Given the description of an element on the screen output the (x, y) to click on. 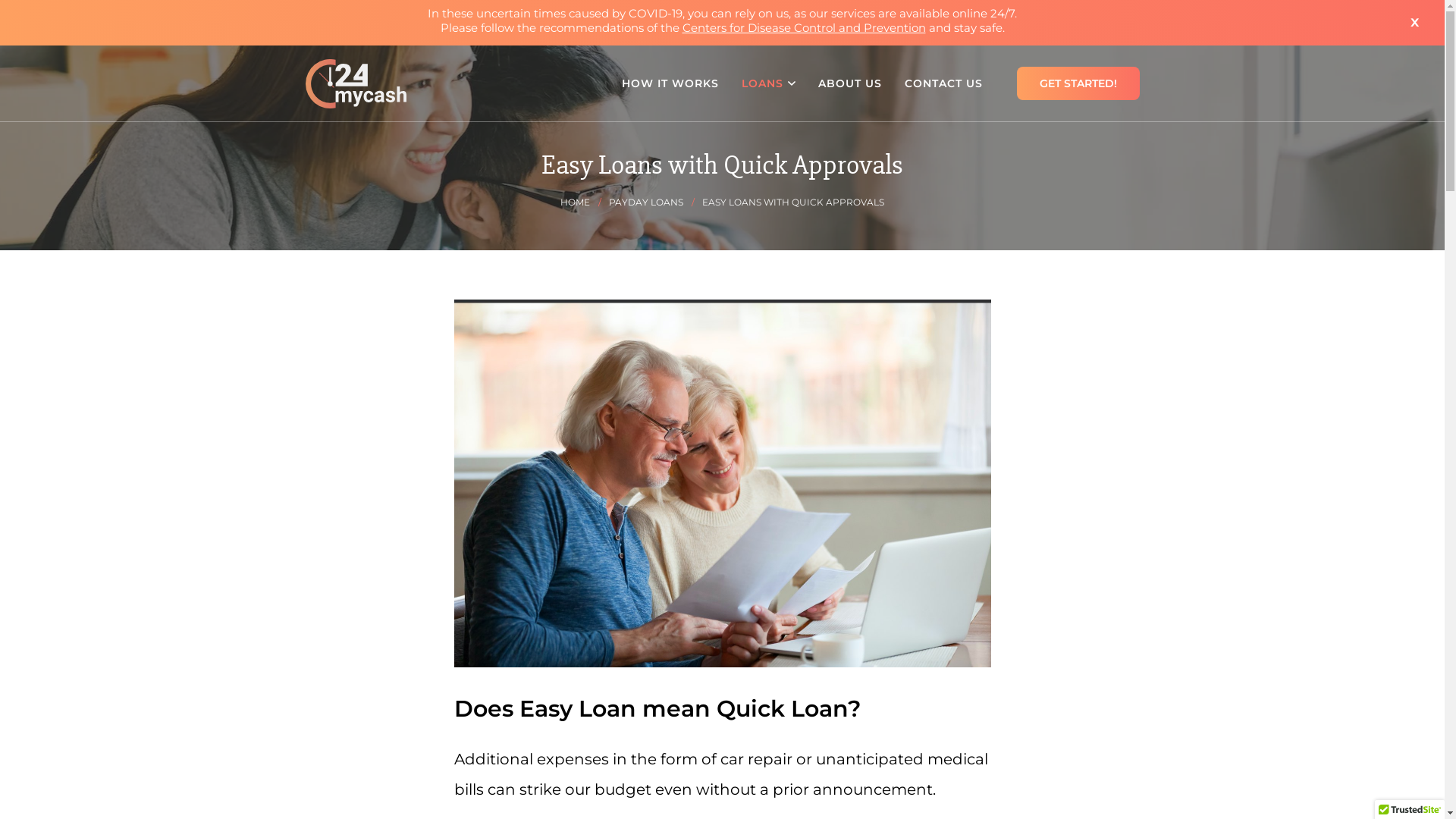
ABOUT US Element type: text (849, 83)
24mycash Element type: hover (354, 83)
HOME Element type: text (580, 201)
LOANS Element type: text (767, 83)
PAYDAY LOANS Element type: text (651, 201)
CONTACT US Element type: text (943, 83)
HOW IT WORKS Element type: text (669, 83)
GET STARTED! Element type: text (1077, 83)
Centers for Disease Control and Prevention Element type: text (803, 27)
